Given the description of an element on the screen output the (x, y) to click on. 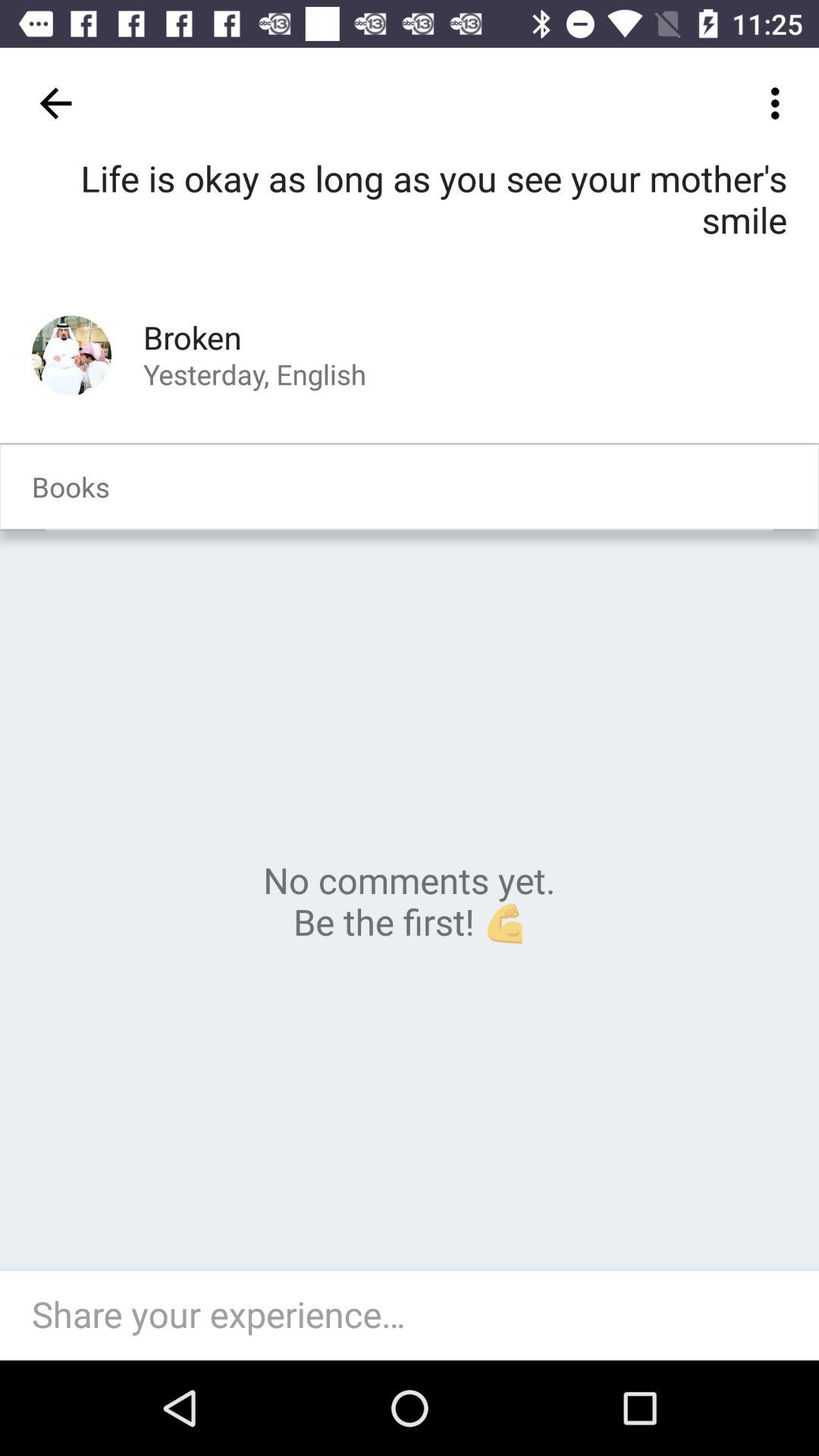
click item above the life is okay (779, 103)
